Given the description of an element on the screen output the (x, y) to click on. 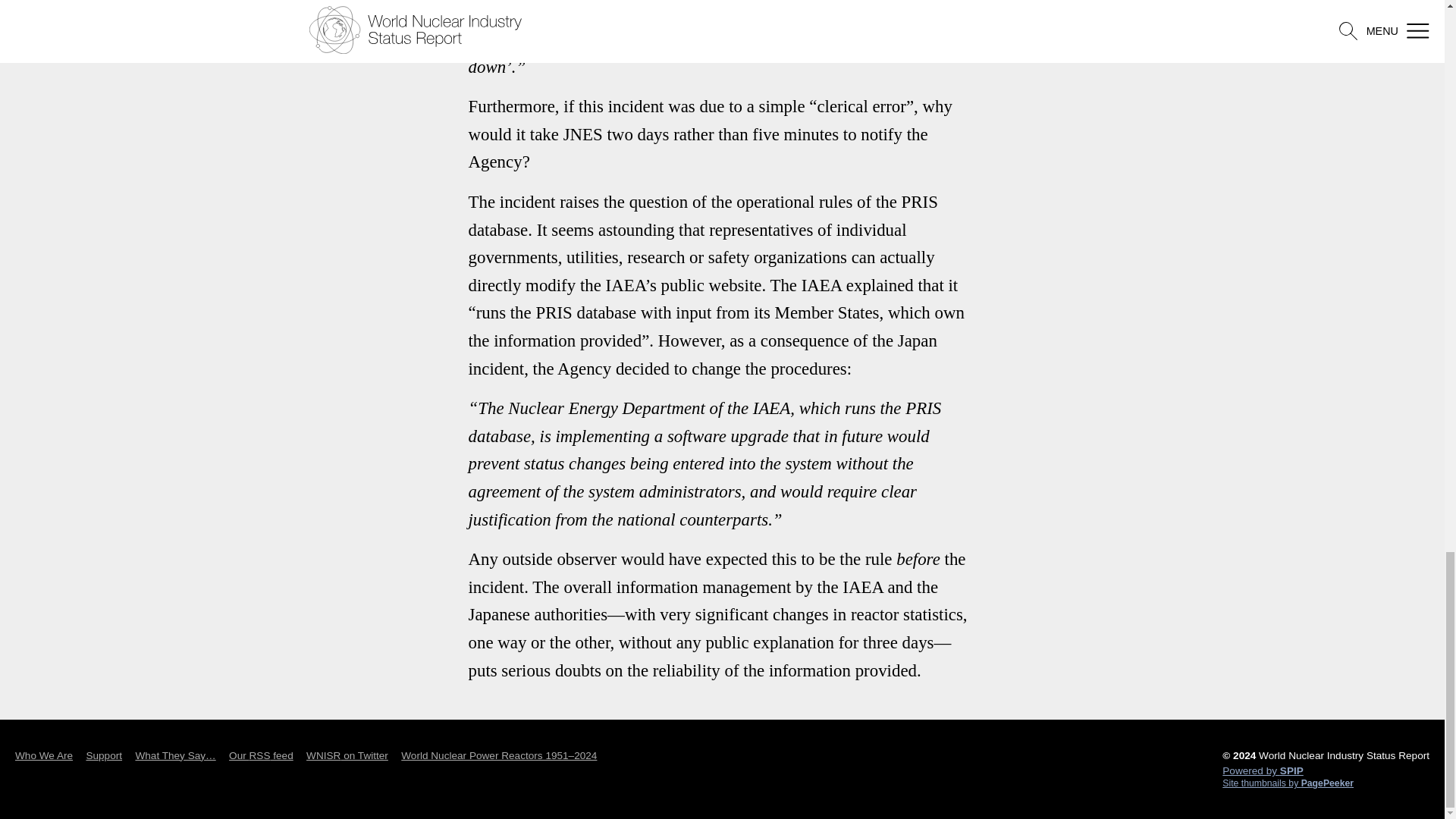
Our RSS feed (261, 756)
WNISR on Twitter (346, 756)
Support (103, 756)
Who We Are (43, 756)
Powered by SPIP (1326, 770)
Site thumbnails by PagePeeker (1326, 782)
